Given the description of an element on the screen output the (x, y) to click on. 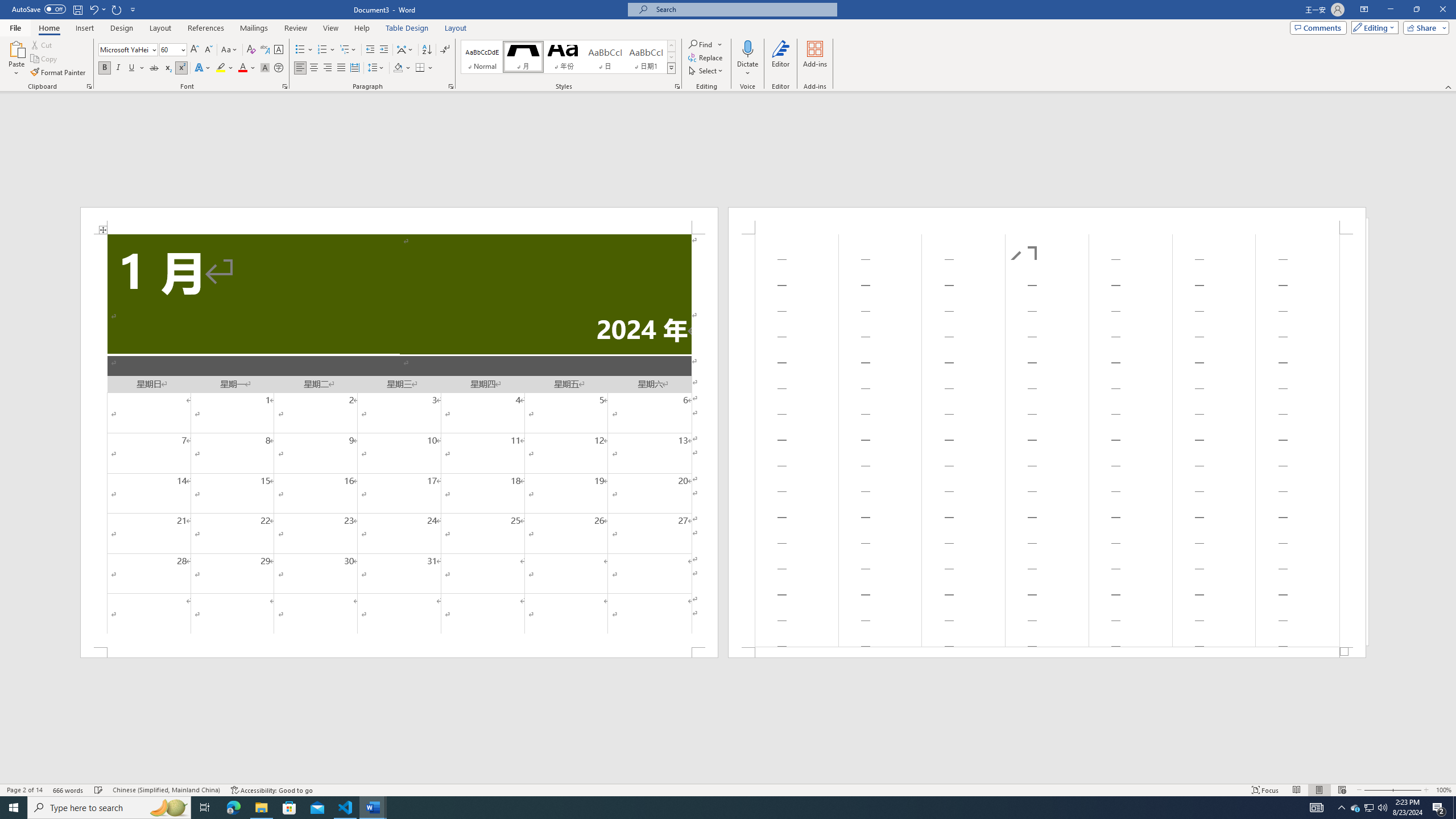
Replace... (705, 56)
AutomationID: QuickStylesGallery (568, 56)
Table Design (407, 28)
Underline (136, 67)
Shading RGB(0, 0, 0) (397, 67)
Change Case (229, 49)
Decrease Indent (370, 49)
Minimize (1390, 9)
Borders (424, 67)
Clear Formatting (250, 49)
Find (700, 44)
Justify (340, 67)
Customize Quick Access Toolbar (133, 9)
System (6, 6)
Row up (670, 45)
